Given the description of an element on the screen output the (x, y) to click on. 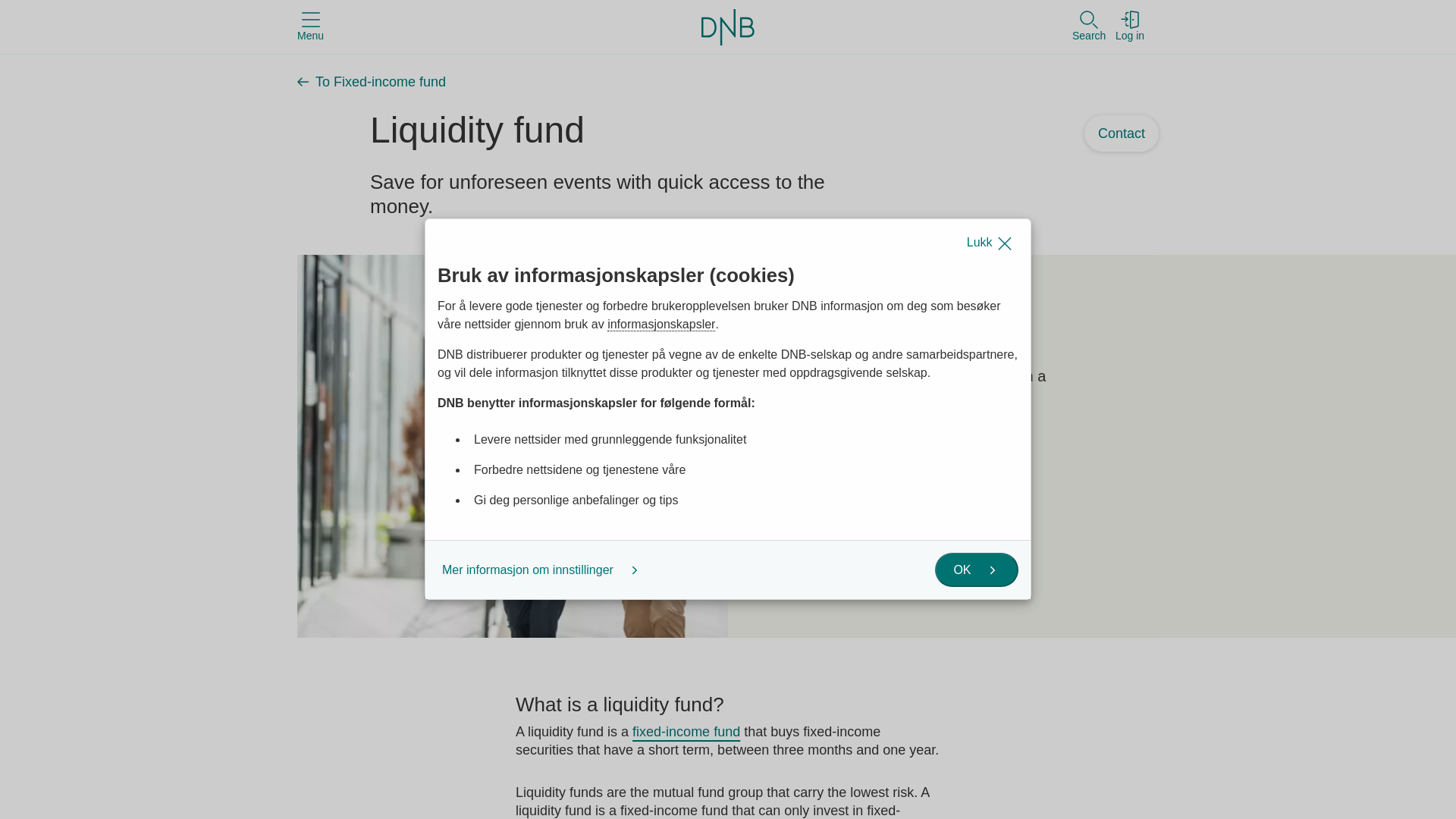
Go to DNB's website (727, 26)
fixed-income fund (685, 731)
Contact (1121, 133)
